Given the description of an element on the screen output the (x, y) to click on. 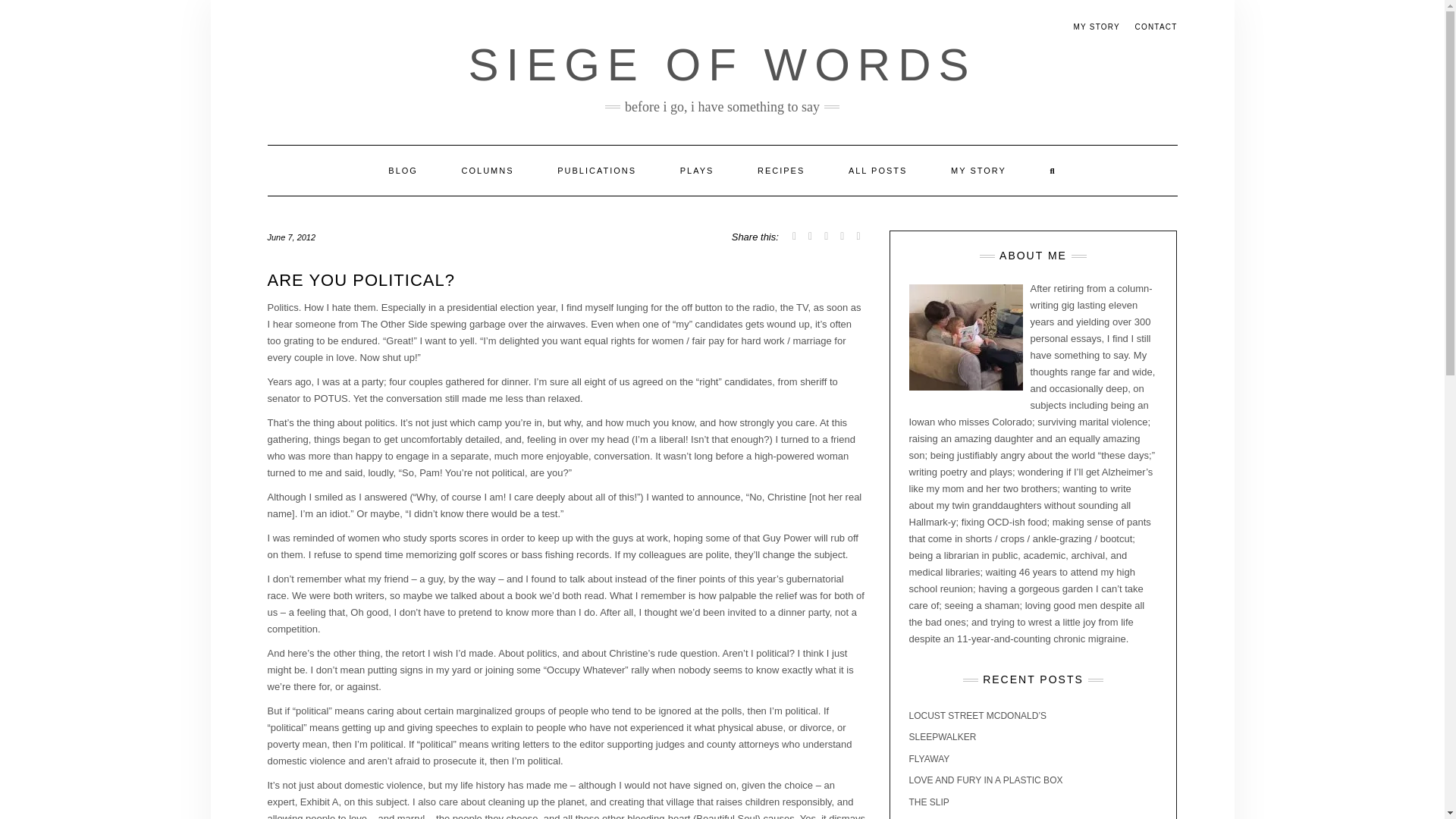
MY STORY (1096, 26)
SIEGE OF WORDS (721, 64)
THE SLIP (928, 801)
FLYAWAY (928, 758)
PUBLICATIONS (596, 170)
CONTACT (1155, 26)
SLEEPWALKER (941, 737)
PLAYS (697, 170)
ALL POSTS (878, 170)
BLOG (403, 170)
MY STORY (978, 170)
SEARCH HERE (1053, 170)
COLUMNS (487, 170)
RECIPES (780, 170)
LOVE AND FURY IN A PLASTIC BOX (985, 779)
